Given the description of an element on the screen output the (x, y) to click on. 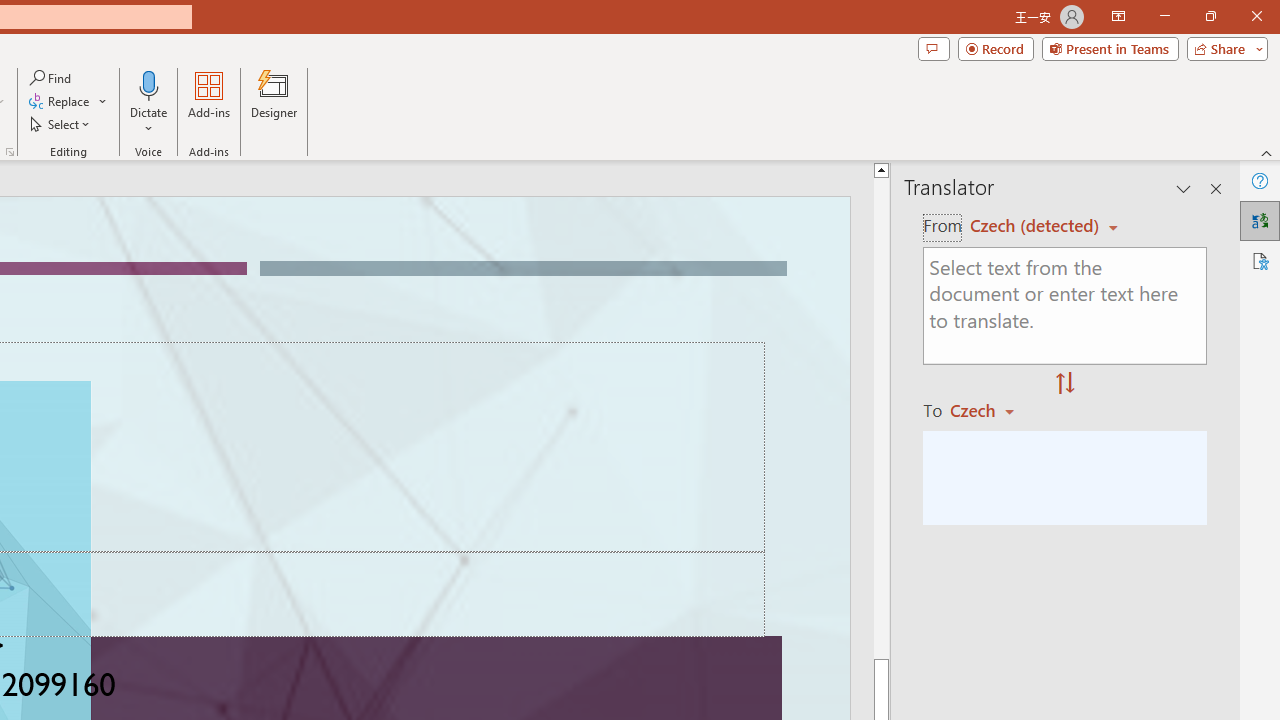
Czech (991, 409)
